Given the description of an element on the screen output the (x, y) to click on. 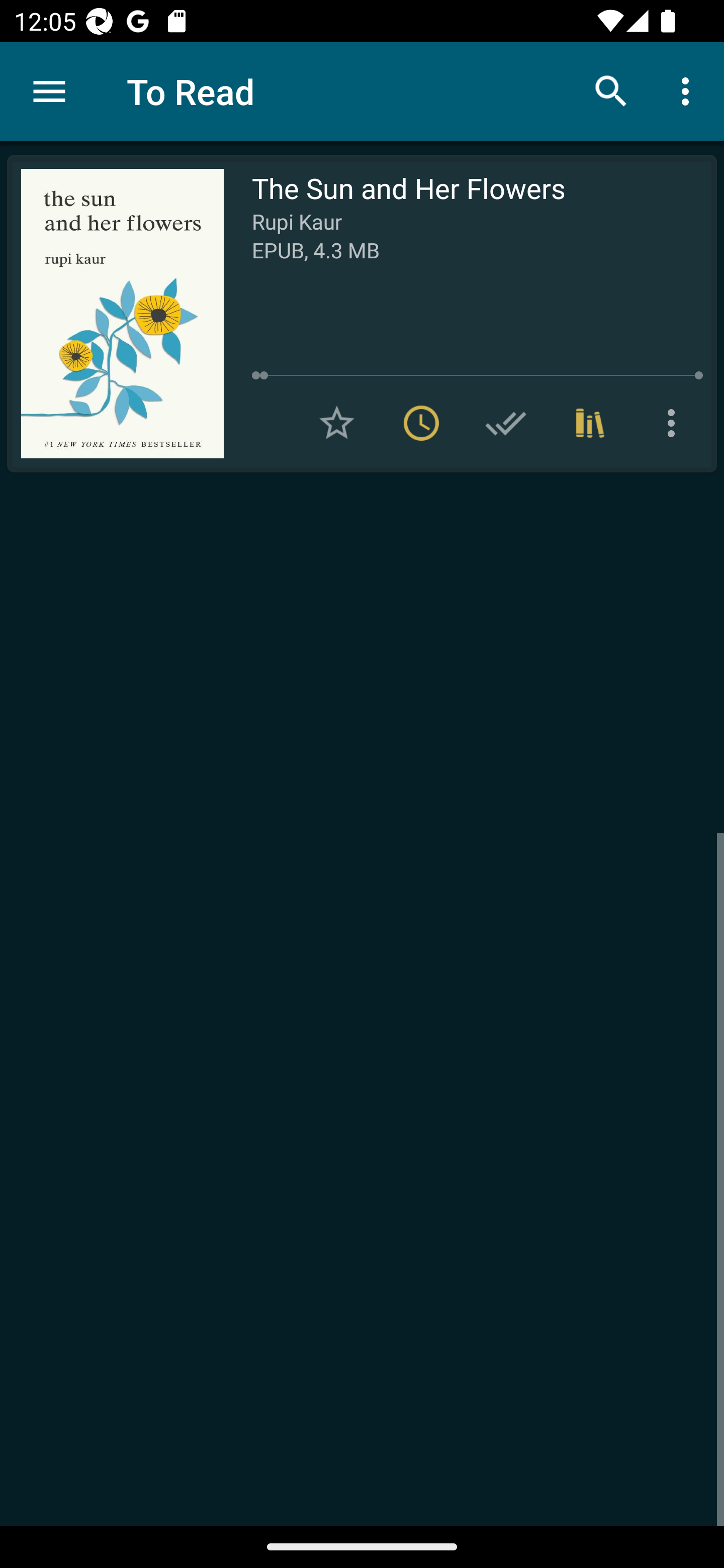
Menu (49, 91)
Search books & documents (611, 90)
More options (688, 90)
Read The Sun and Her Flowers (115, 313)
Add to Favorites (336, 423)
Remove from To read (421, 423)
Add to Have read (505, 423)
Collections (1) (590, 423)
More options (674, 423)
